Given the description of an element on the screen output the (x, y) to click on. 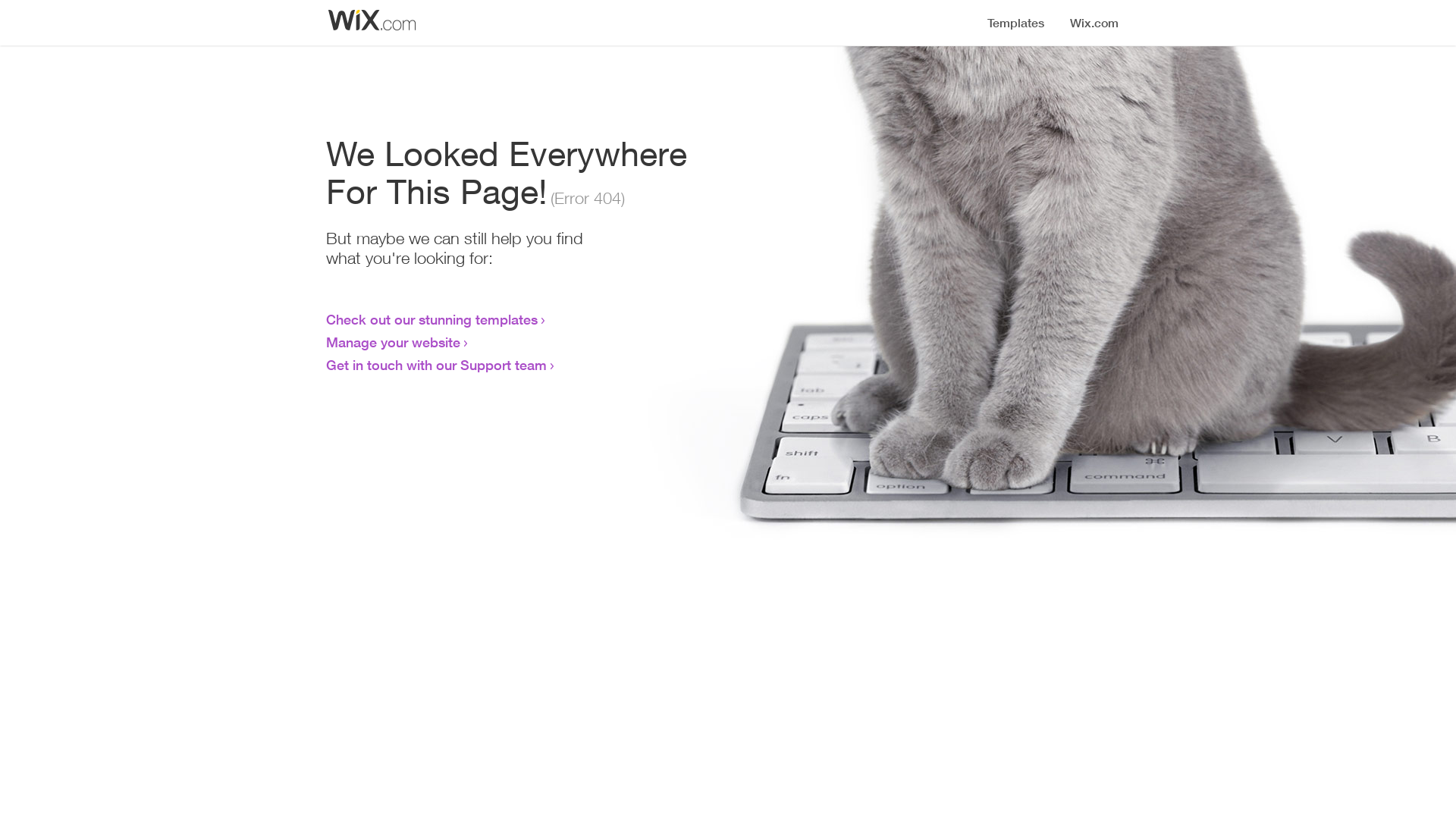
Manage your website Element type: text (393, 341)
Get in touch with our Support team Element type: text (436, 364)
Check out our stunning templates Element type: text (431, 318)
